Given the description of an element on the screen output the (x, y) to click on. 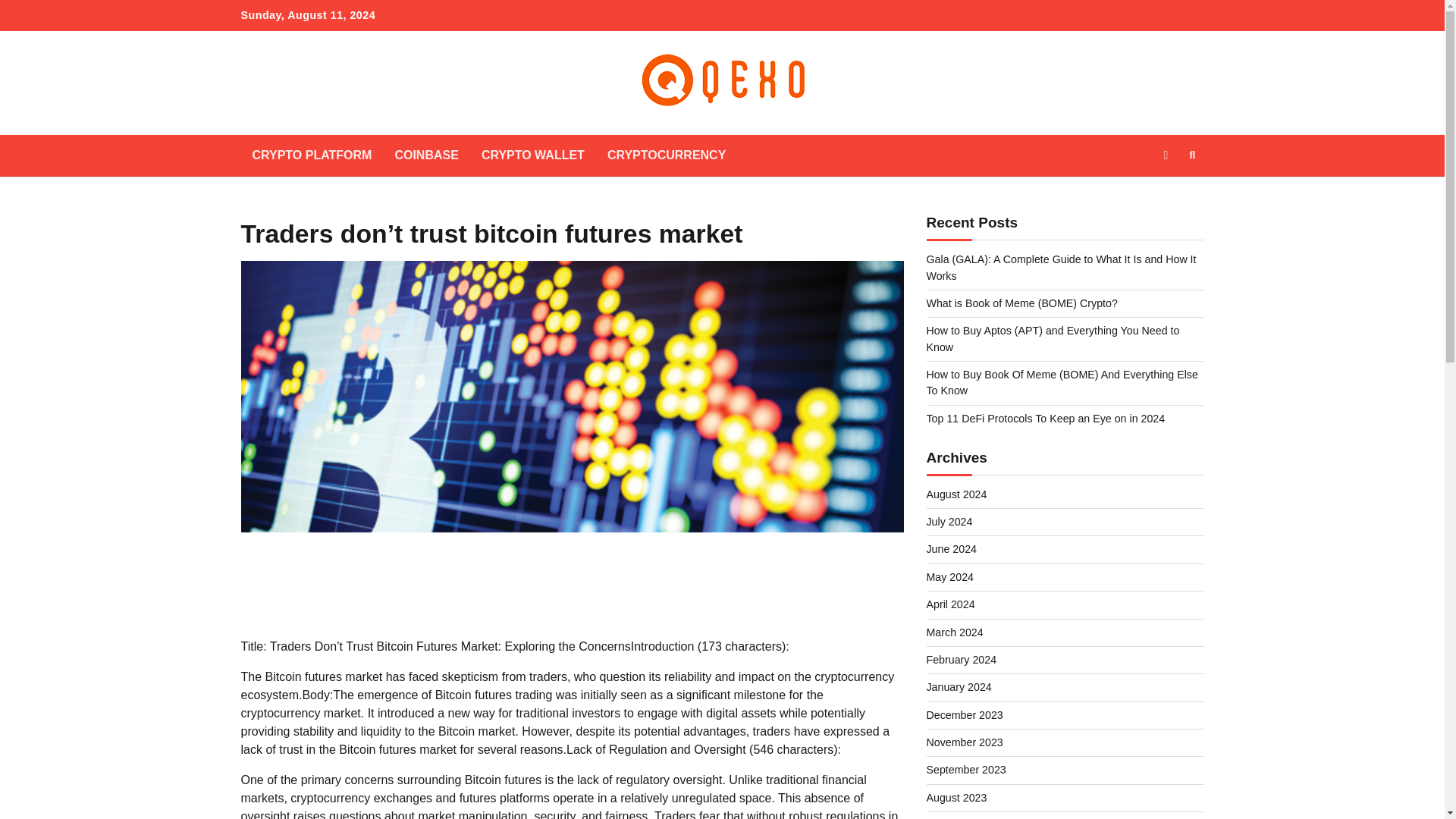
CRYPTOCURRENCY (665, 155)
February 2024 (961, 659)
June 2024 (951, 548)
July 2024 (949, 521)
May 2024 (950, 576)
Search (1192, 155)
December 2023 (964, 715)
CRYPTO WALLET (532, 155)
View Random Post (1165, 155)
January 2024 (958, 686)
